Given the description of an element on the screen output the (x, y) to click on. 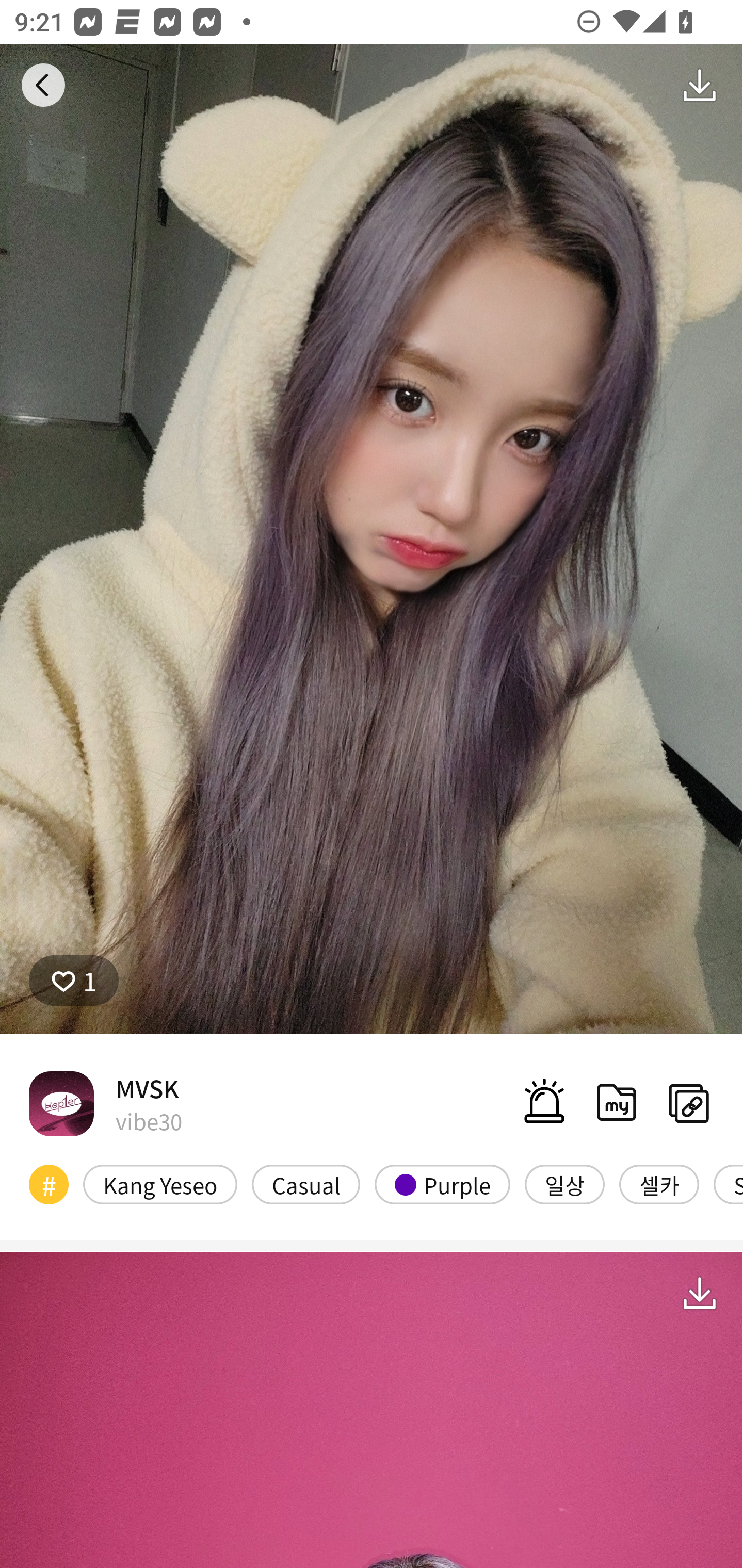
1 (73, 980)
MVSK vibe30 (105, 1102)
Kang Yeseo (160, 1184)
Casual (305, 1184)
Purple (442, 1184)
일상 (564, 1184)
셀카 (658, 1184)
